Given the description of an element on the screen output the (x, y) to click on. 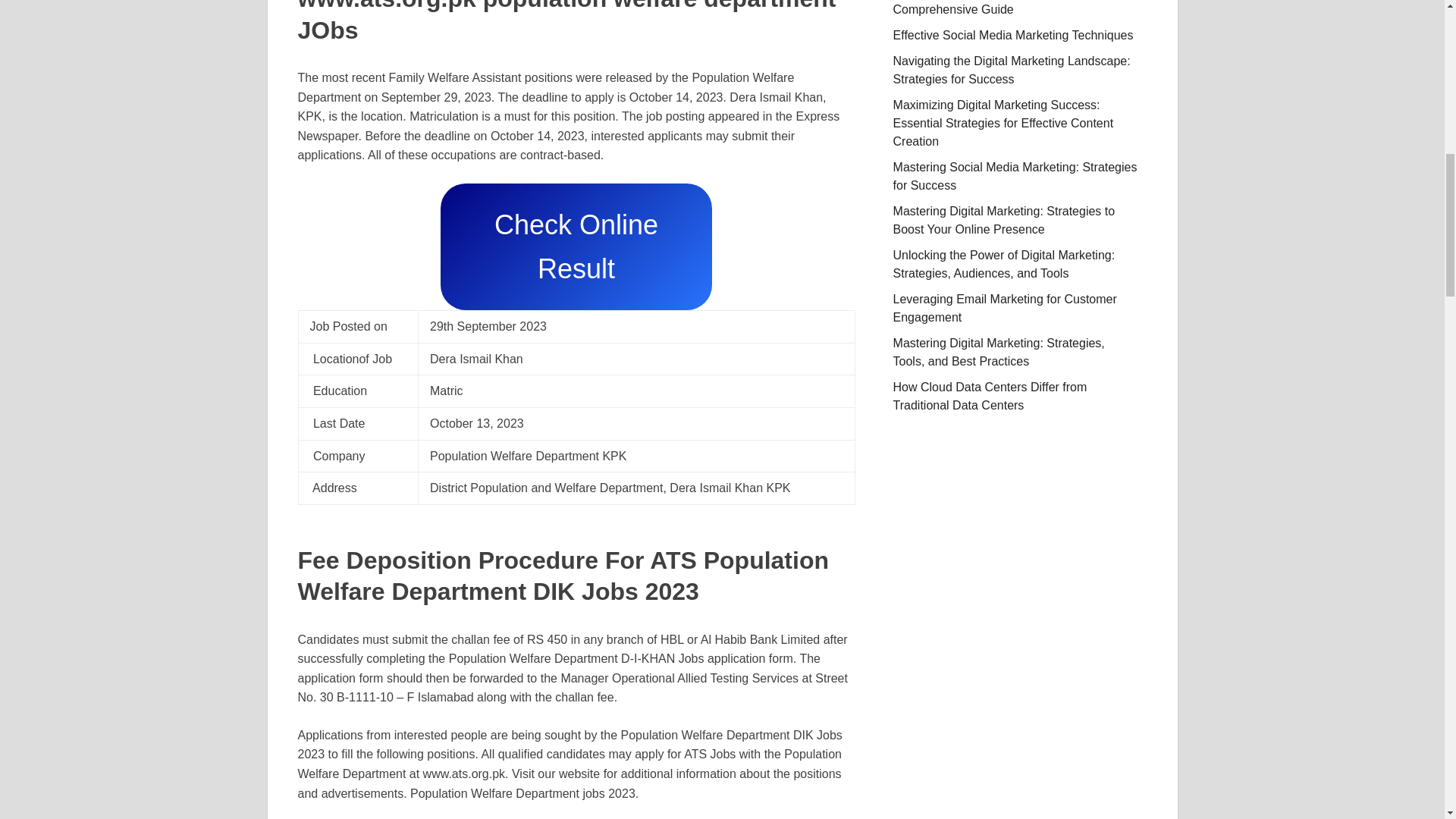
Check Online Result (577, 246)
